Given the description of an element on the screen output the (x, y) to click on. 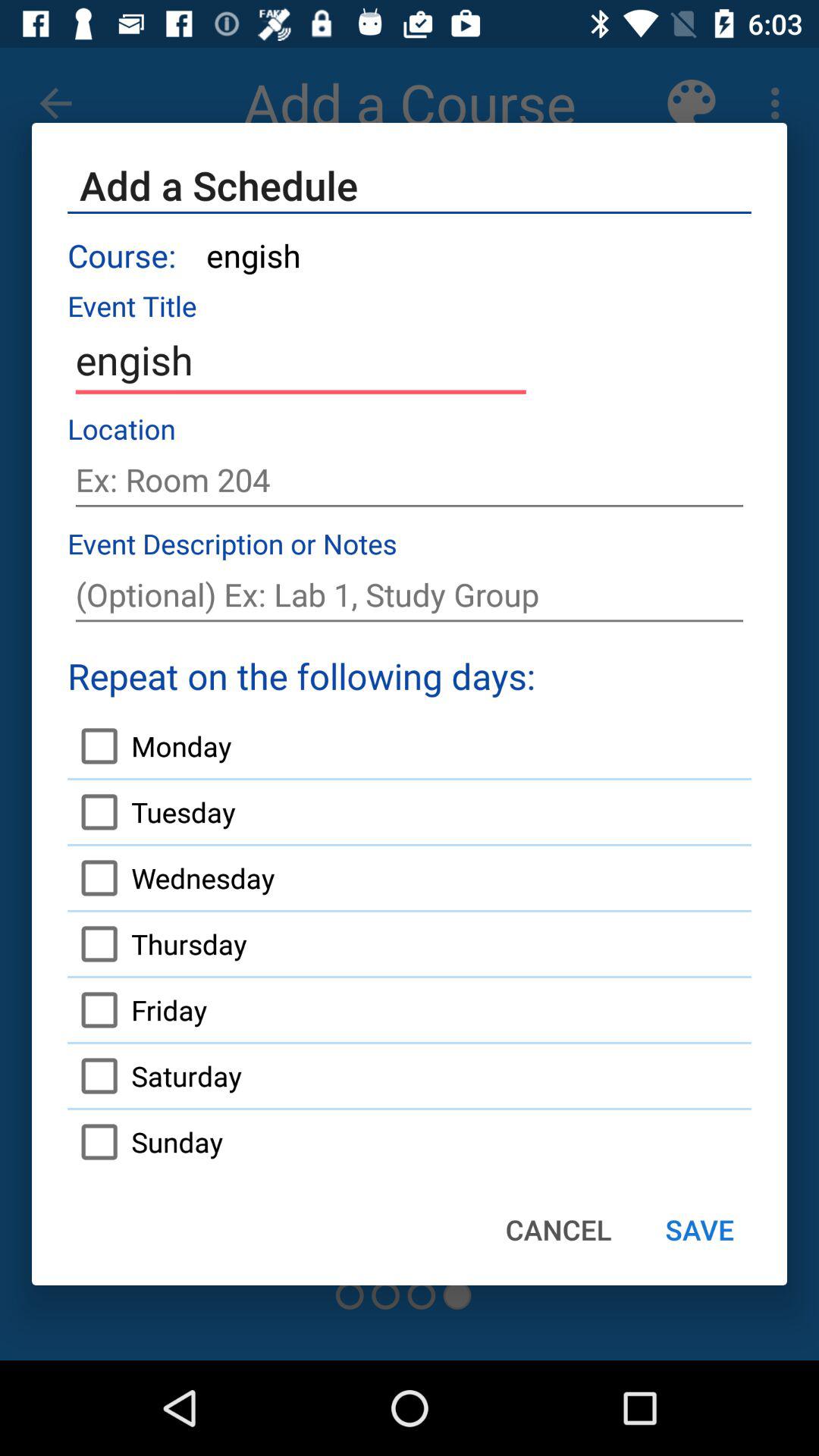
turn on item to the right of cancel (699, 1229)
